Given the description of an element on the screen output the (x, y) to click on. 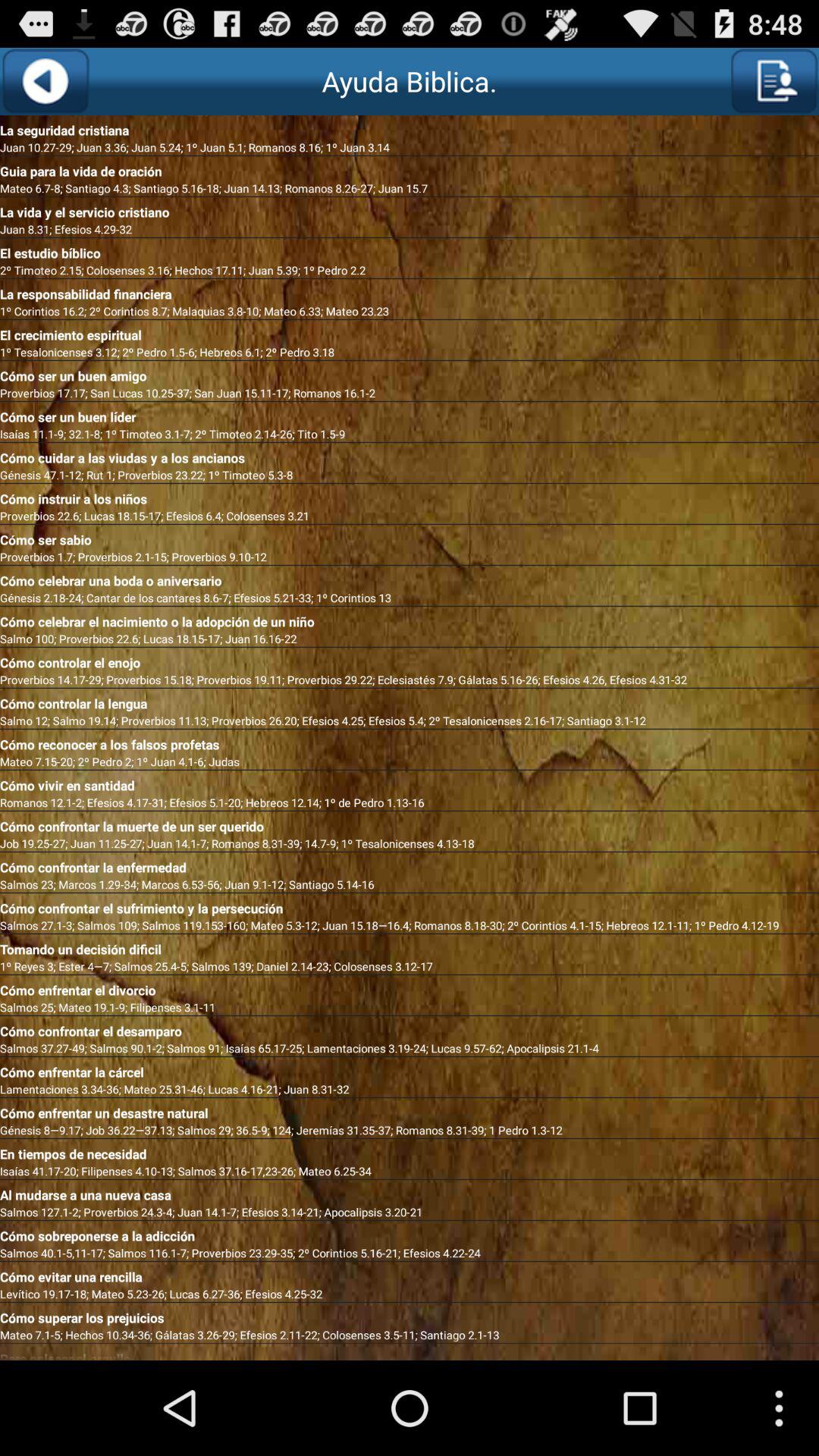
click the icon above lamentaciones 3 34 icon (409, 1069)
